Given the description of an element on the screen output the (x, y) to click on. 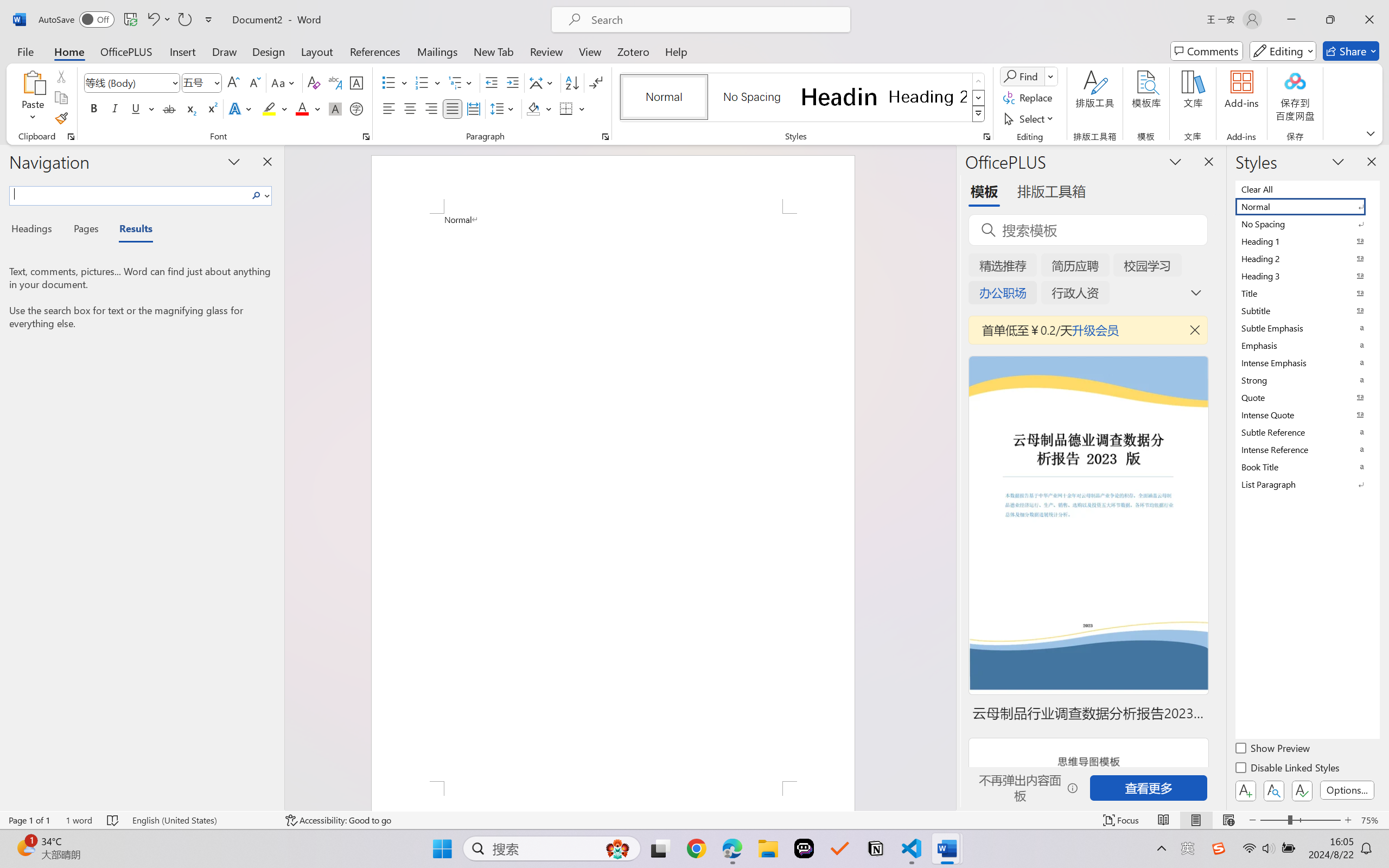
Quote (1306, 397)
Strong (1306, 379)
Microsoft search (715, 19)
Minimize (1291, 19)
Format Painter (60, 118)
Strikethrough (169, 108)
Home (69, 51)
Ribbon Display Options (1370, 132)
Increase Indent (512, 82)
Heading 3 (1306, 275)
List Paragraph (1306, 484)
Mode (1283, 50)
Open (215, 82)
